Given the description of an element on the screen output the (x, y) to click on. 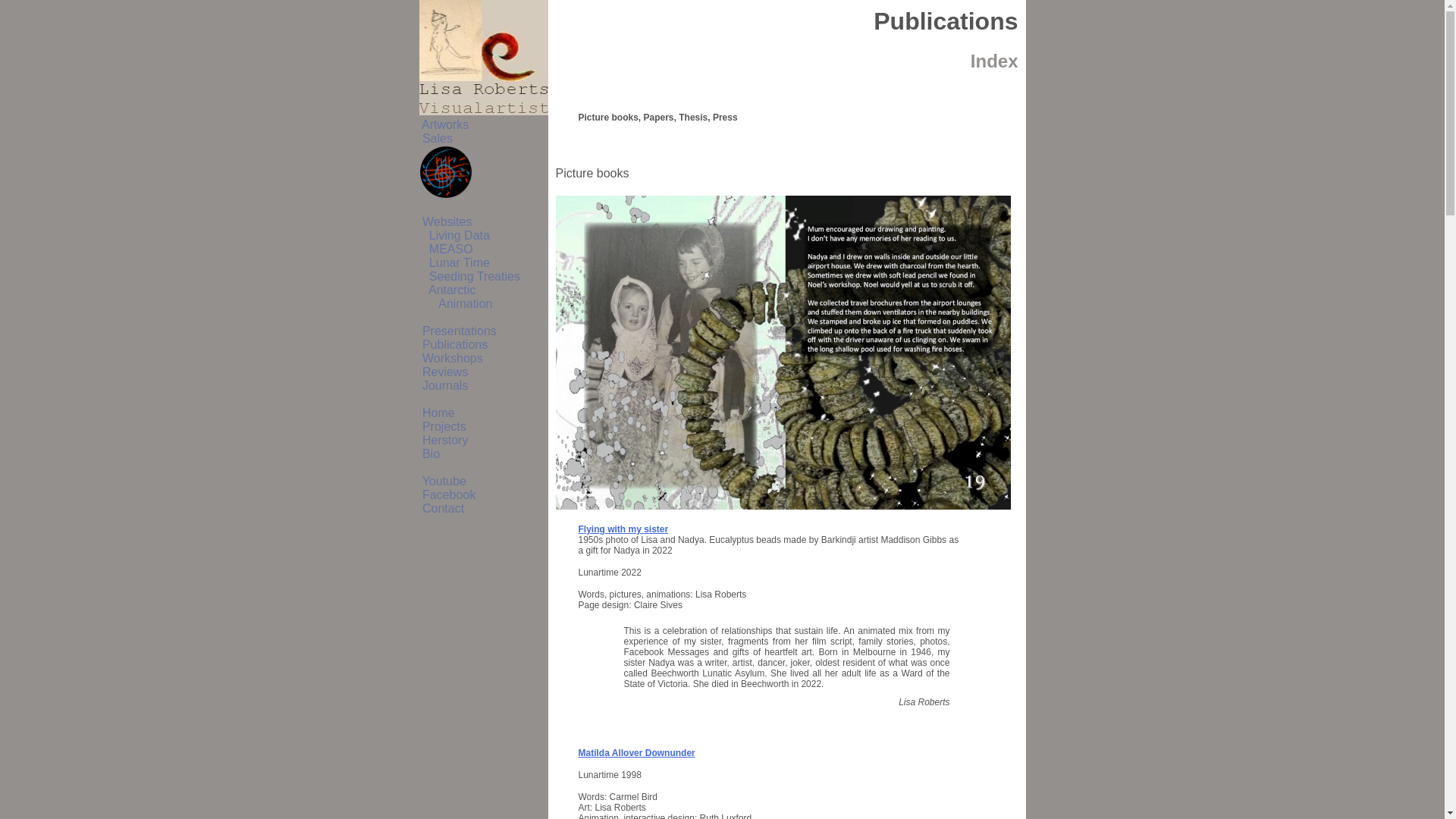
 Herstory Element type: text (442, 439)
 Youtube Element type: text (441, 480)
Flying with my sister Element type: text (624, 529)
   Lunar Time Element type: text (453, 262)
 Journals Element type: text (442, 385)
Matilda Allover Downunder Element type: text (637, 752)
   Antarctic
      Animation Element type: text (455, 296)
   MEASO Element type: text (445, 248)
 Artworks Element type: text (443, 124)
 Home Element type: text (436, 412)
 Sales Element type: text (434, 137)
 Bio Element type: text (428, 453)
 Websites Element type: text (444, 221)
 Contact Element type: text (441, 508)
 Projects Element type: text (441, 426)
 Presentations Element type: text (456, 330)
Galleries Element type: hover (444, 171)
 Workshops Element type: text (450, 357)
   Living Data Element type: text (453, 235)
   Seeding Treaties Element type: text (468, 275)
 Publications Element type: text (452, 344)
 Reviews Element type: text (442, 371)
 Facebook Element type: text (446, 494)
